Given the description of an element on the screen output the (x, y) to click on. 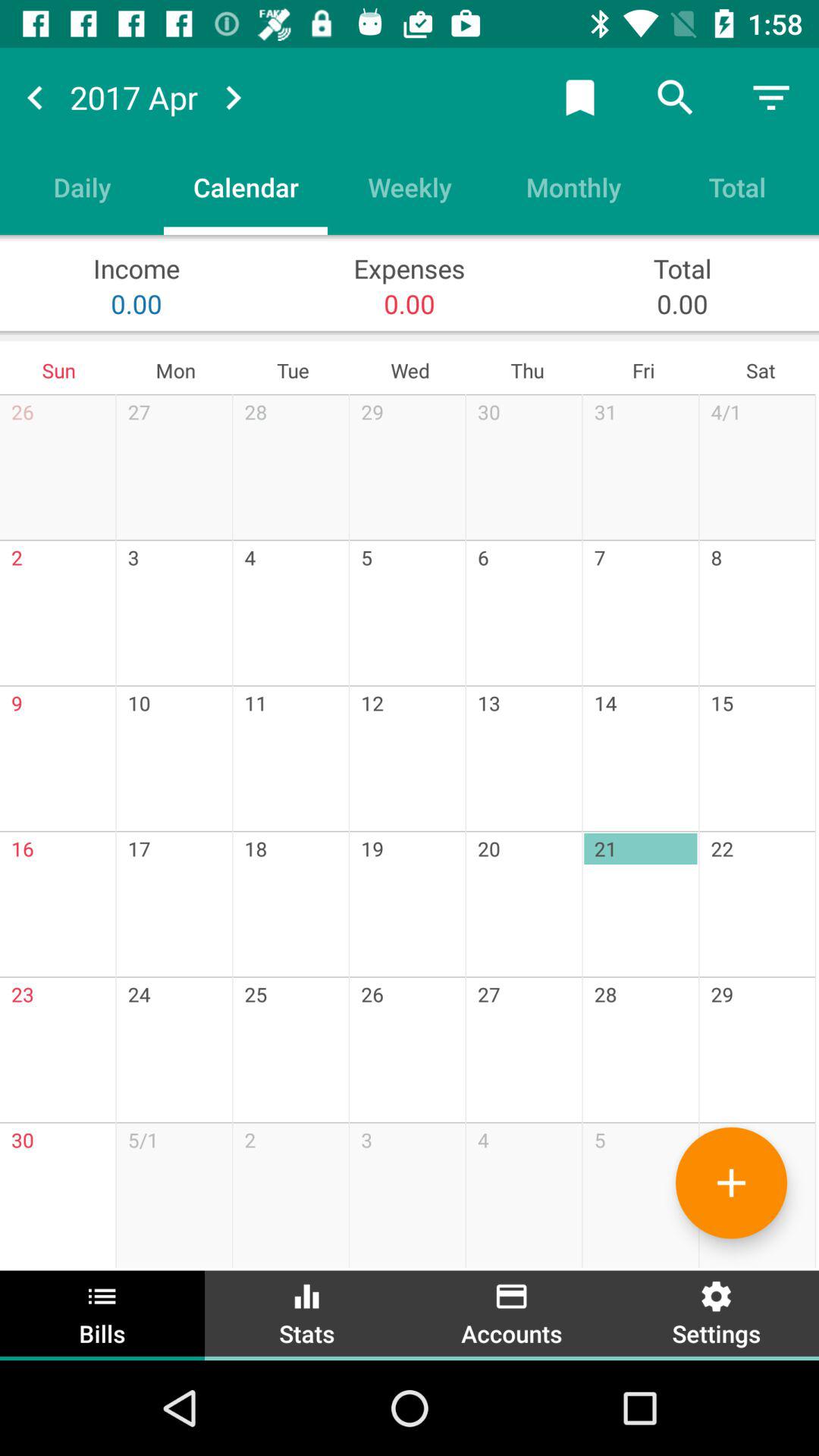
add entry (731, 1182)
